Given the description of an element on the screen output the (x, y) to click on. 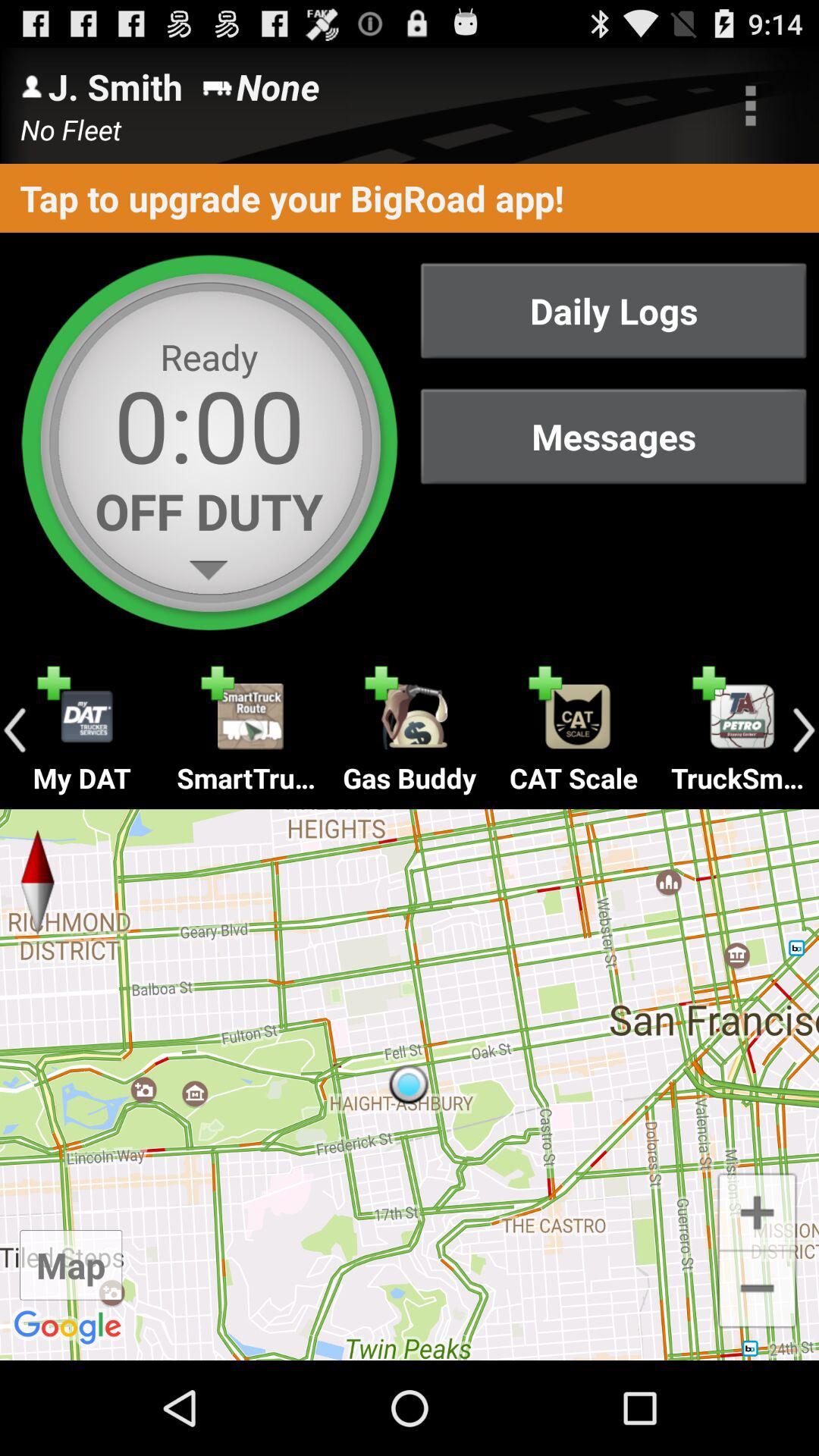
zoom (757, 1210)
